Given the description of an element on the screen output the (x, y) to click on. 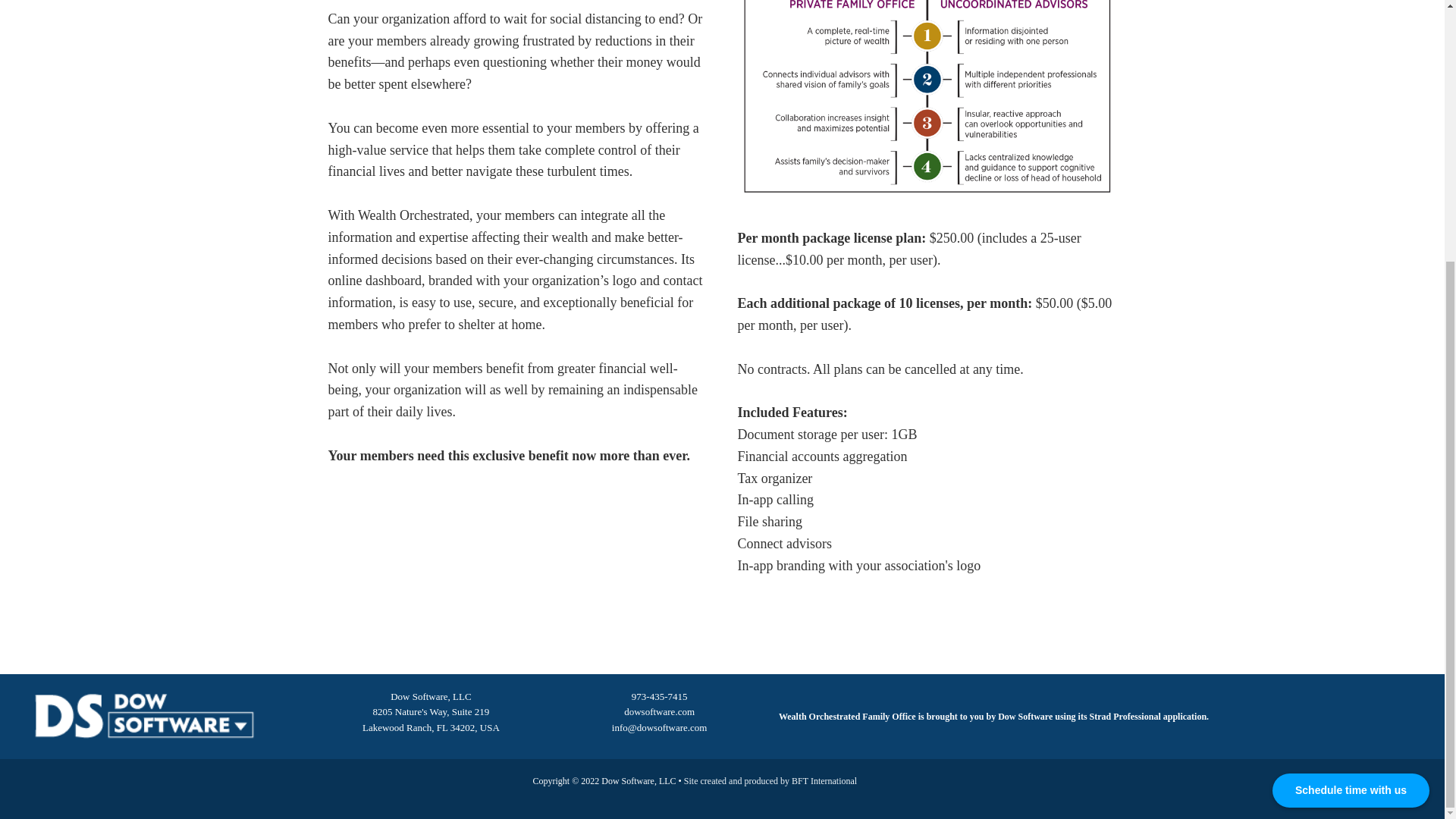
Site created and produced by BFT International (770, 780)
